Given the description of an element on the screen output the (x, y) to click on. 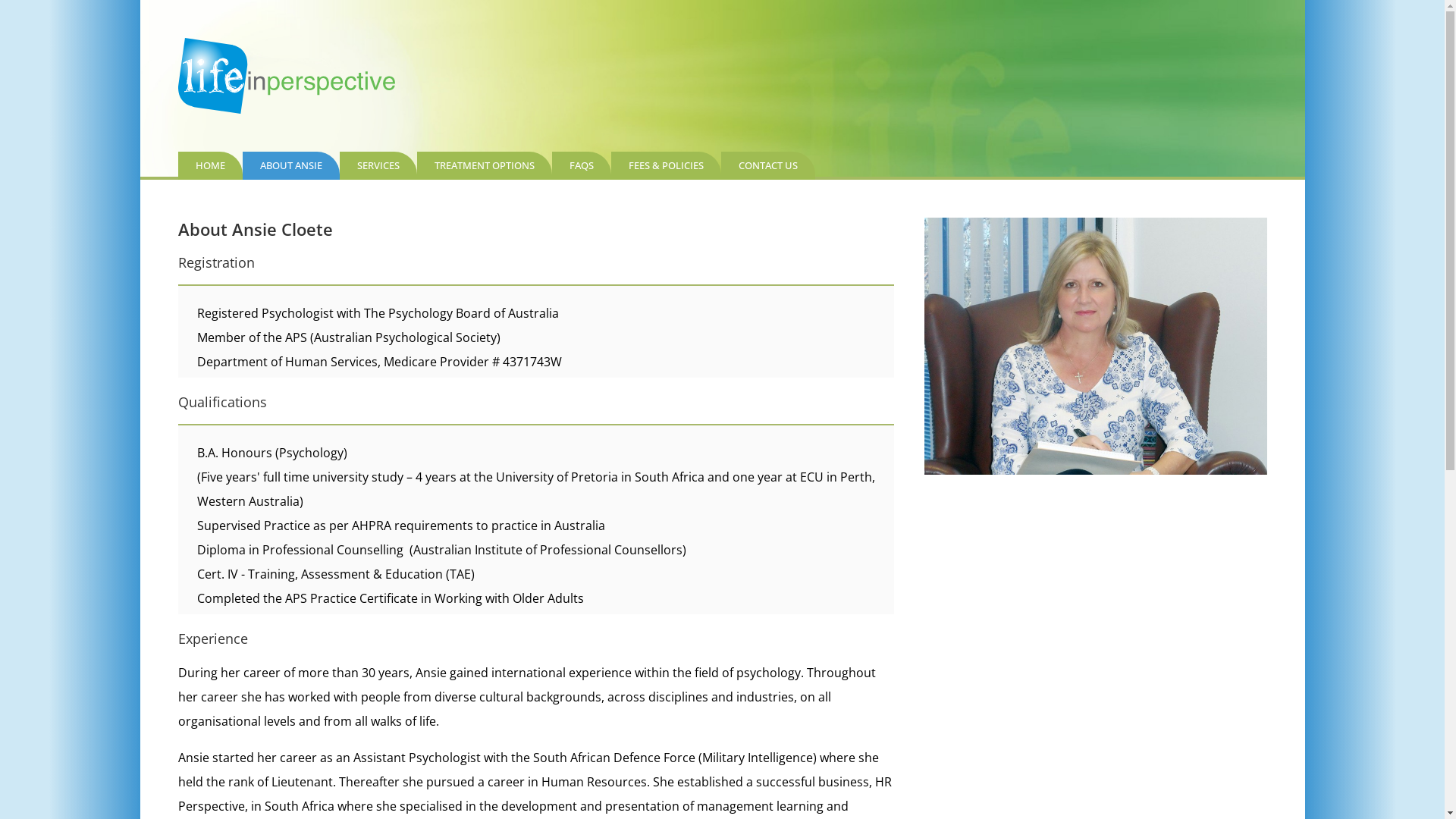
FEES & POLICIES Element type: text (666, 165)
Skip to content Element type: text (161, 16)
FAQS Element type: text (581, 165)
ABOUT ANSIE Element type: text (290, 165)
HOME Element type: text (209, 165)
TREATMENT OPTIONS Element type: text (484, 165)
CONTACT US Element type: text (767, 165)
SERVICES Element type: text (378, 165)
